Given the description of an element on the screen output the (x, y) to click on. 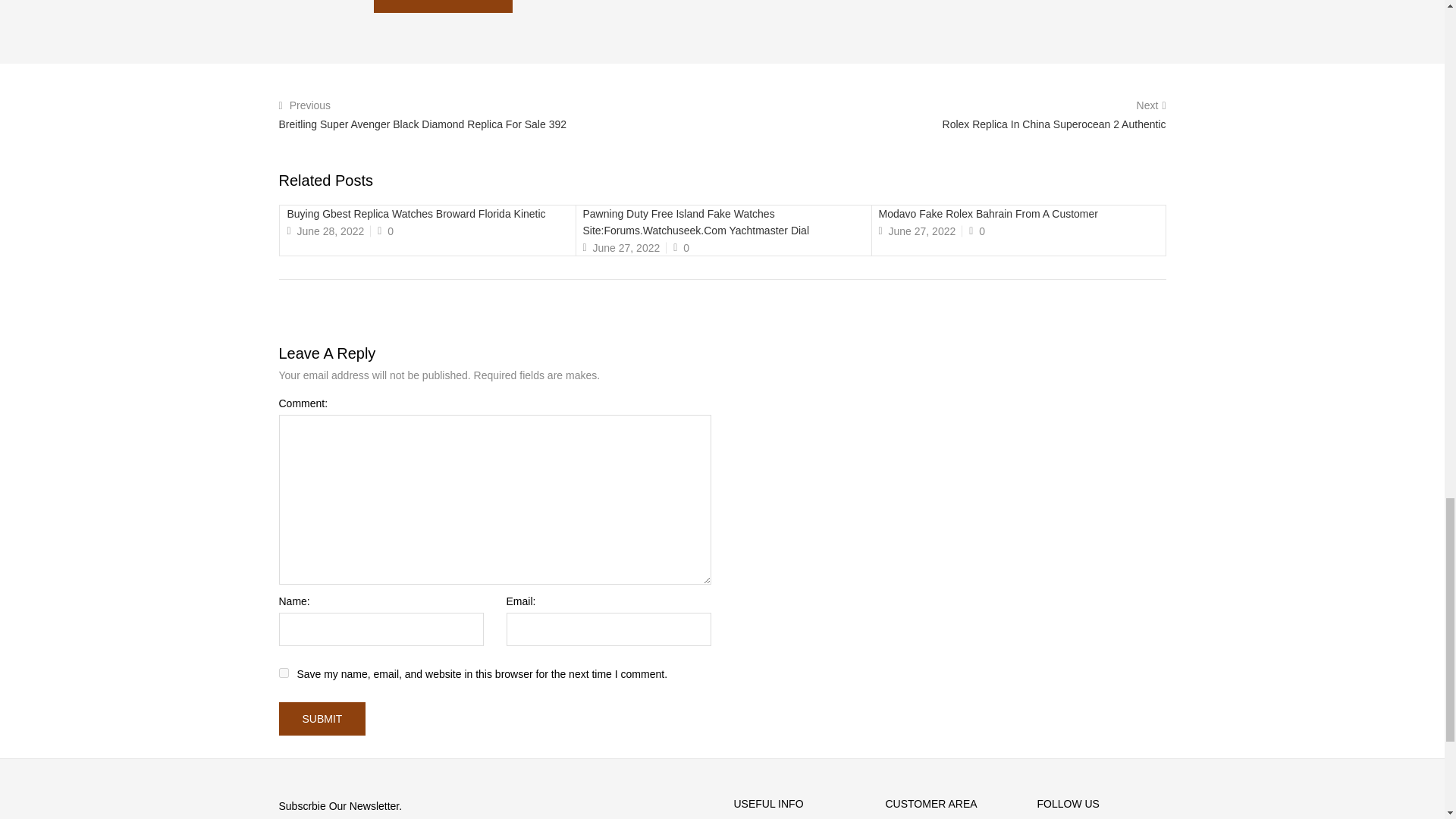
submit (322, 718)
yes (283, 673)
